Given the description of an element on the screen output the (x, y) to click on. 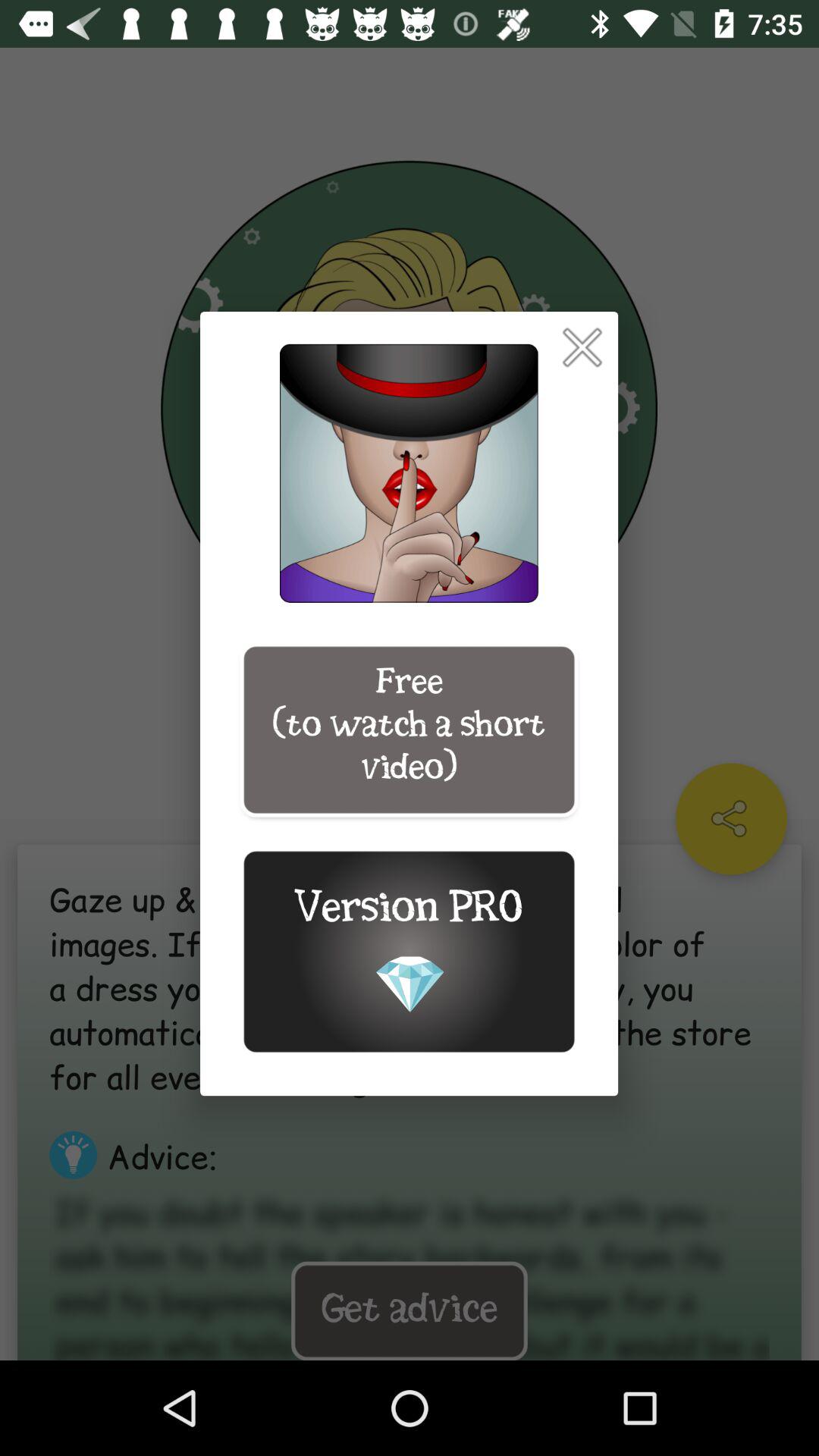
turn on the icon below the free to watch icon (409, 951)
